Given the description of an element on the screen output the (x, y) to click on. 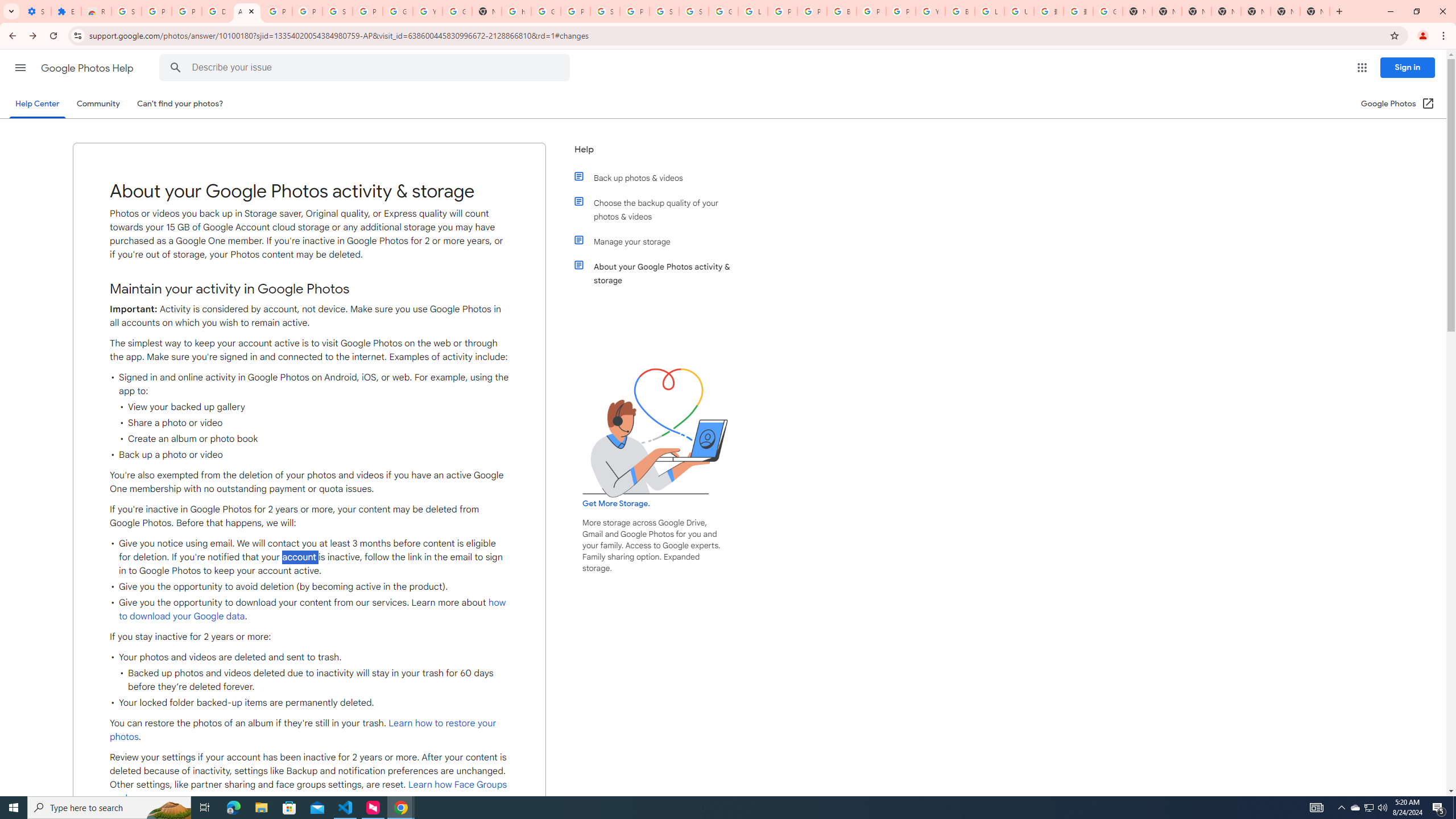
About your Google Photos activity & storage (661, 273)
Google Images (1107, 11)
Google Photos (Open in a new window) (1397, 103)
Can't find your photos? (180, 103)
Learn how Face Groups works (307, 791)
Reviews: Helix Fruit Jump Arcade Game (95, 11)
